Given the description of an element on the screen output the (x, y) to click on. 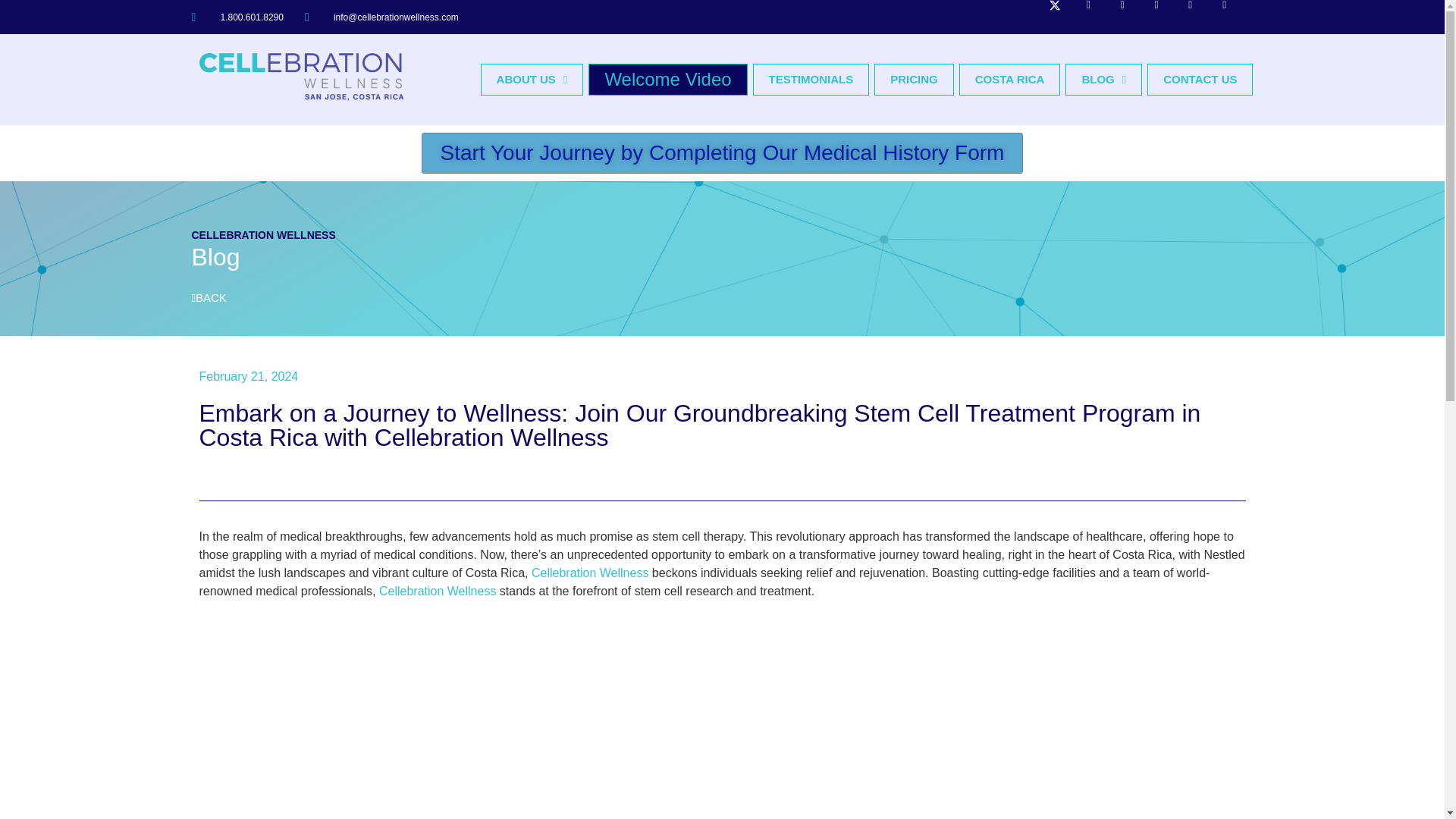
COSTA RICA (1010, 79)
PRICING (914, 79)
CONTACT US (1199, 79)
Welcome Video (667, 79)
ABOUT US (531, 79)
TESTIMONIALS (810, 79)
BLOG (1103, 79)
